Given the description of an element on the screen output the (x, y) to click on. 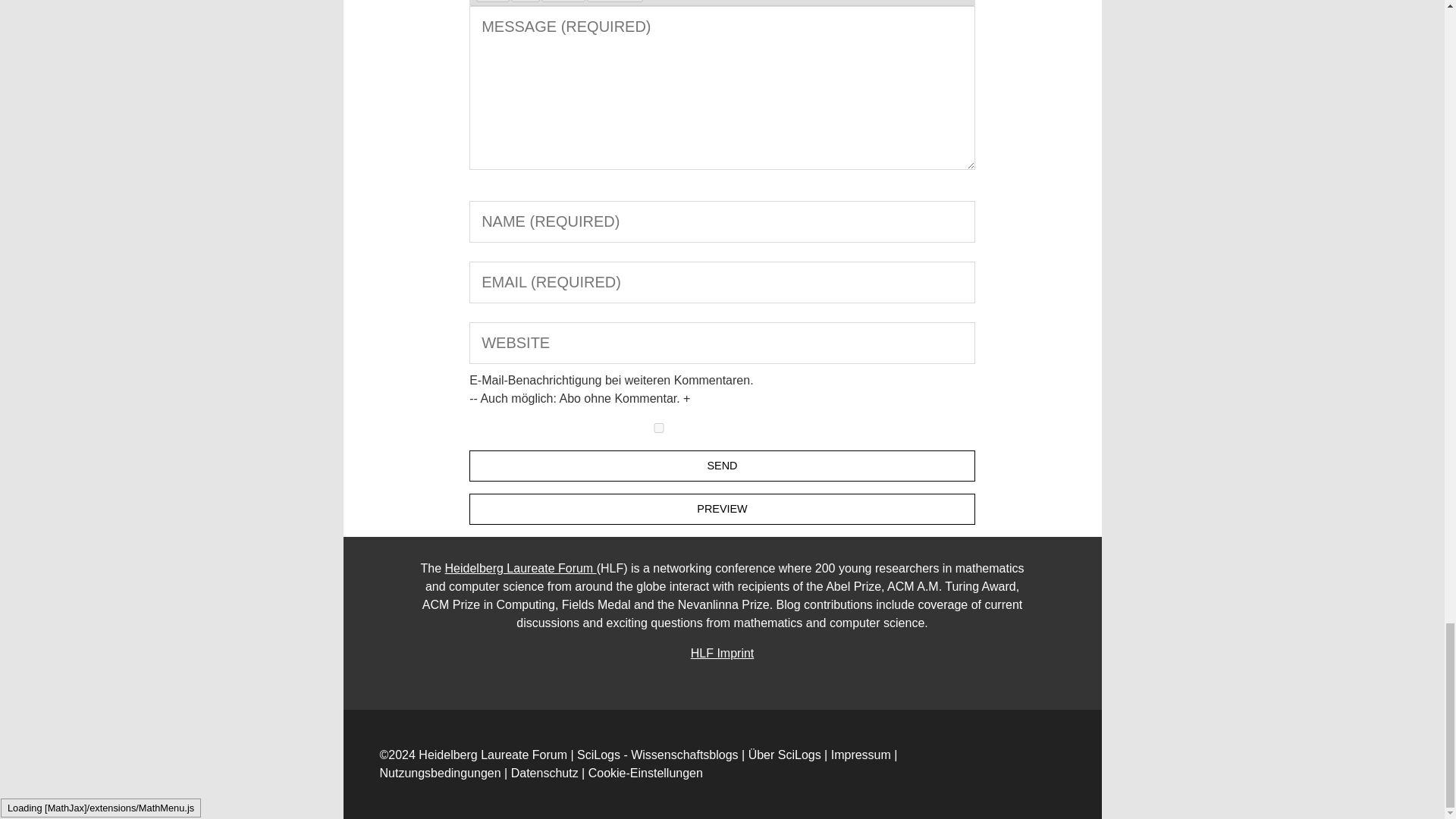
Send (721, 465)
link (563, 1)
quote (614, 1)
b (492, 1)
i (525, 1)
yes (658, 428)
